Given the description of an element on the screen output the (x, y) to click on. 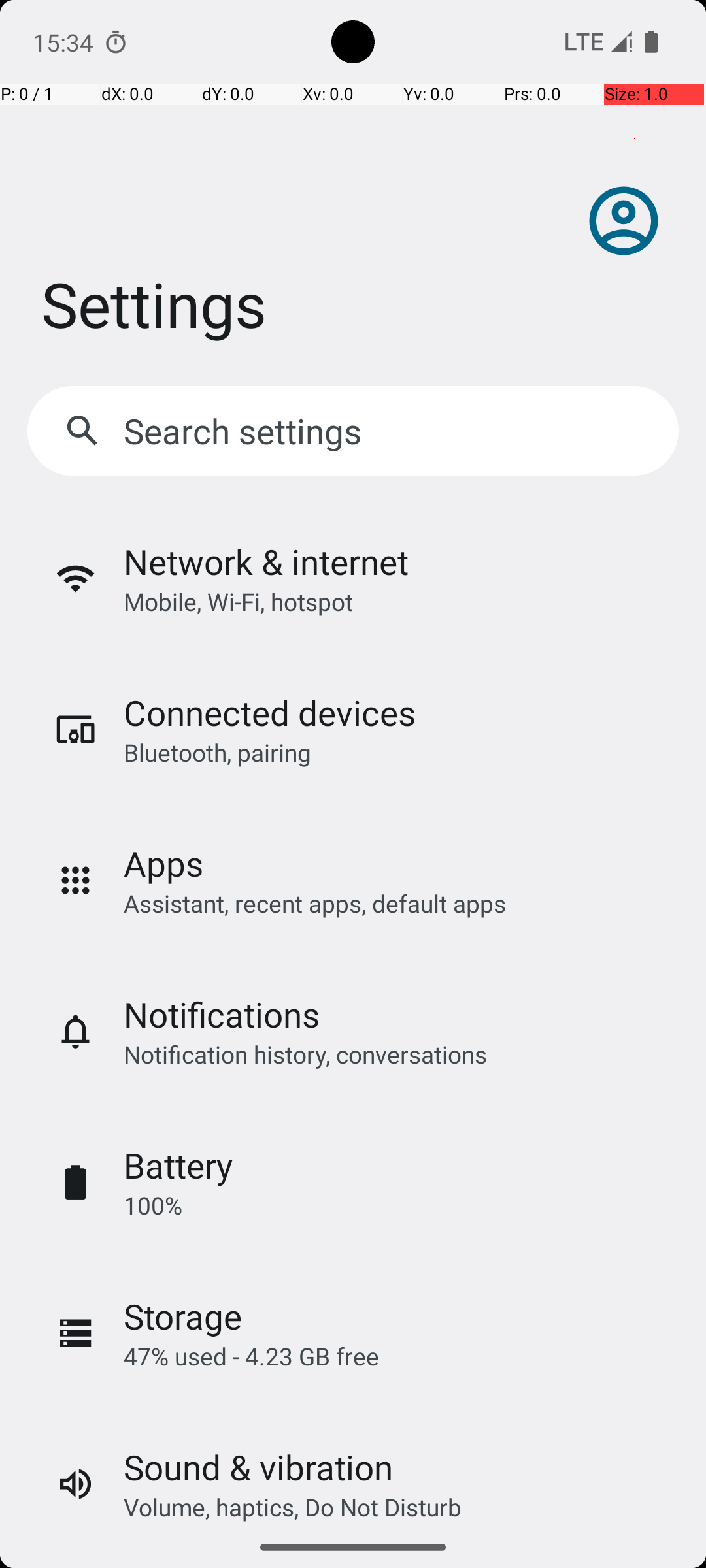
47% used - 4.23 GB free Element type: android.widget.TextView (251, 1355)
